Given the description of an element on the screen output the (x, y) to click on. 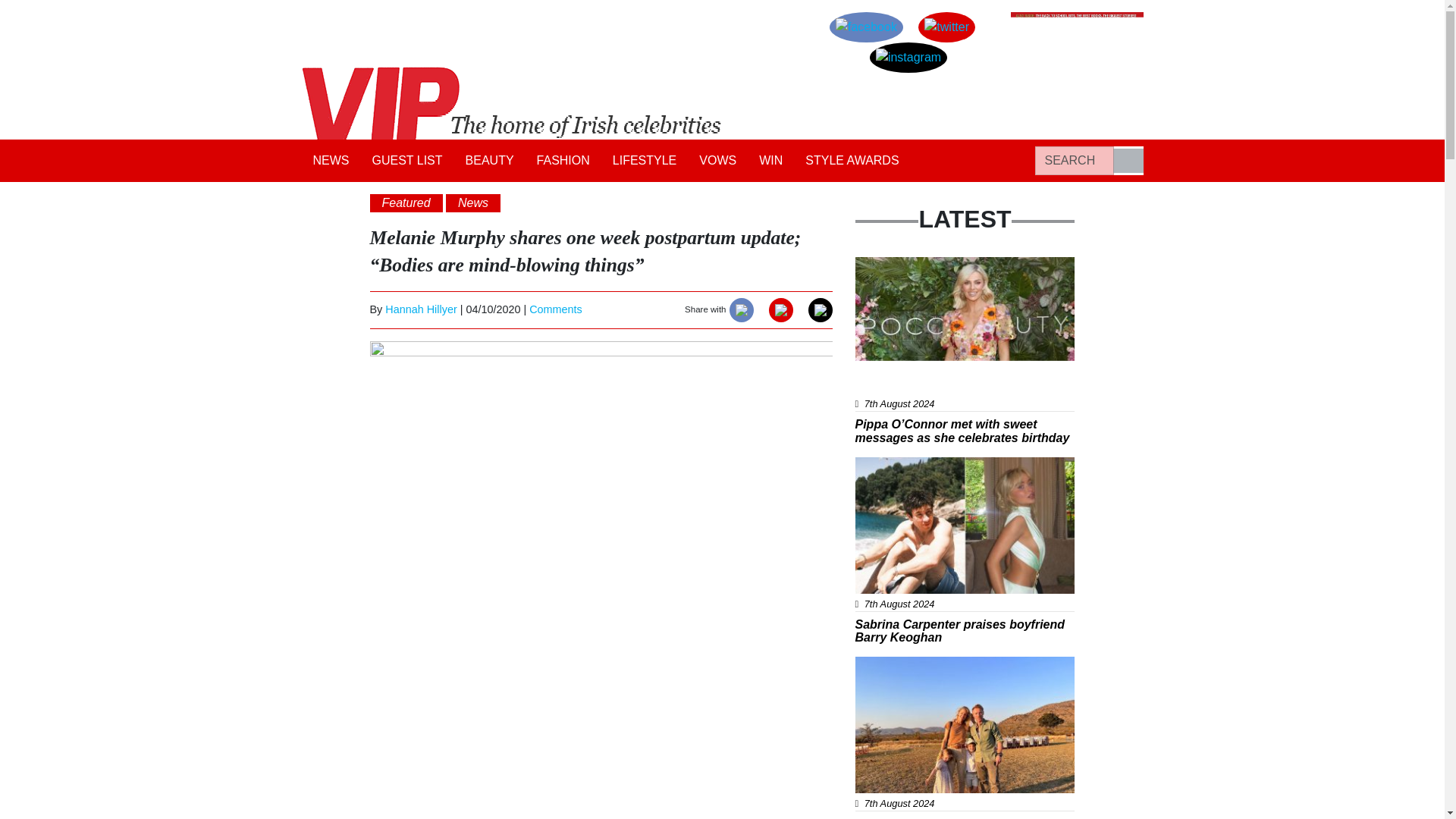
FASHION (563, 160)
Hannah Hillyer (421, 309)
LIFESTYLE (644, 160)
Comments (555, 309)
GUEST LIST (407, 160)
WIN (770, 160)
BEAUTY (489, 160)
Featured (405, 203)
NEWS (331, 160)
News (472, 203)
